Given the description of an element on the screen output the (x, y) to click on. 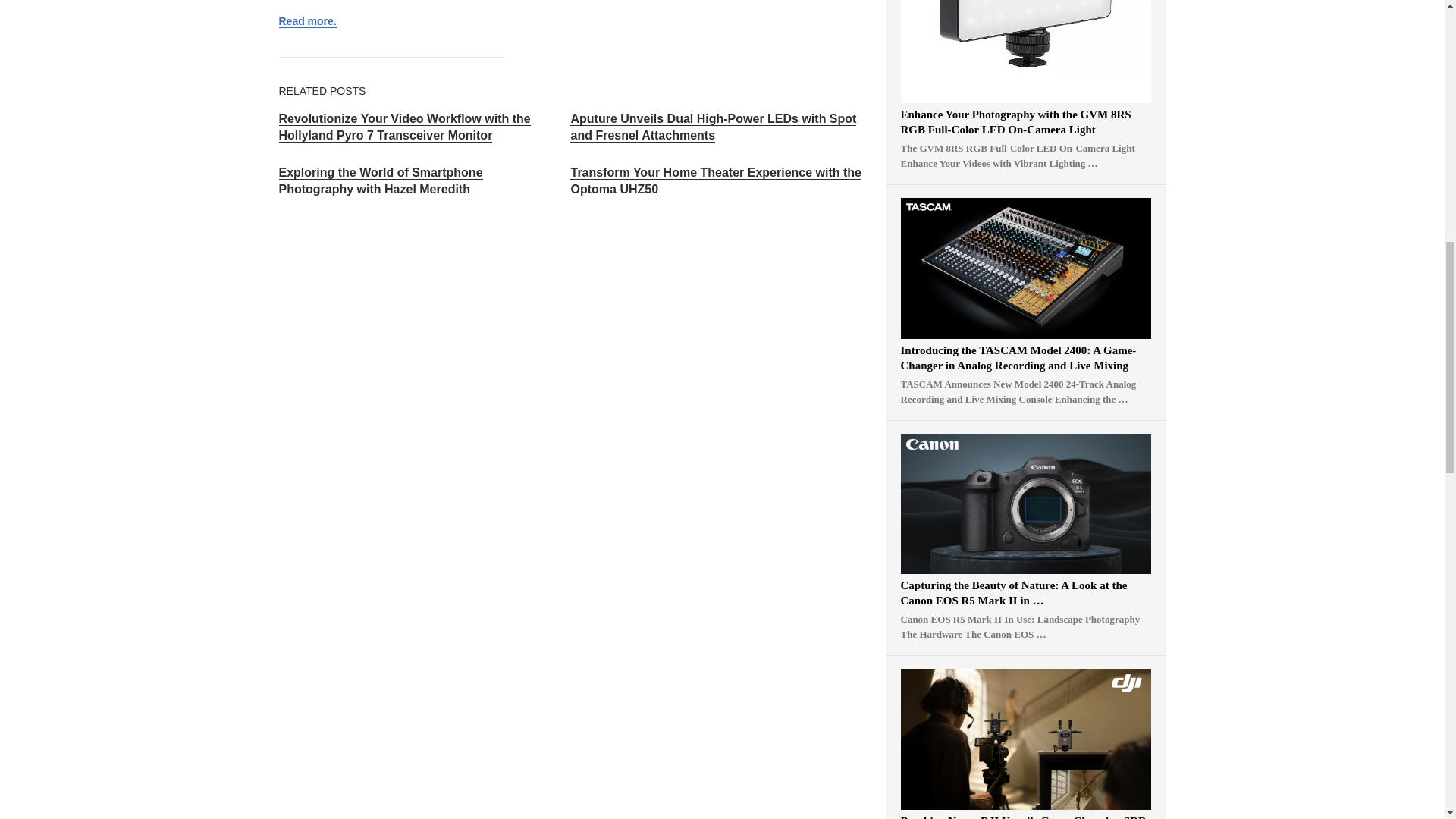
Transform Your Home Theater Experience with the Optoma UHZ50 (715, 181)
Read more. (307, 21)
